Given the description of an element on the screen output the (x, y) to click on. 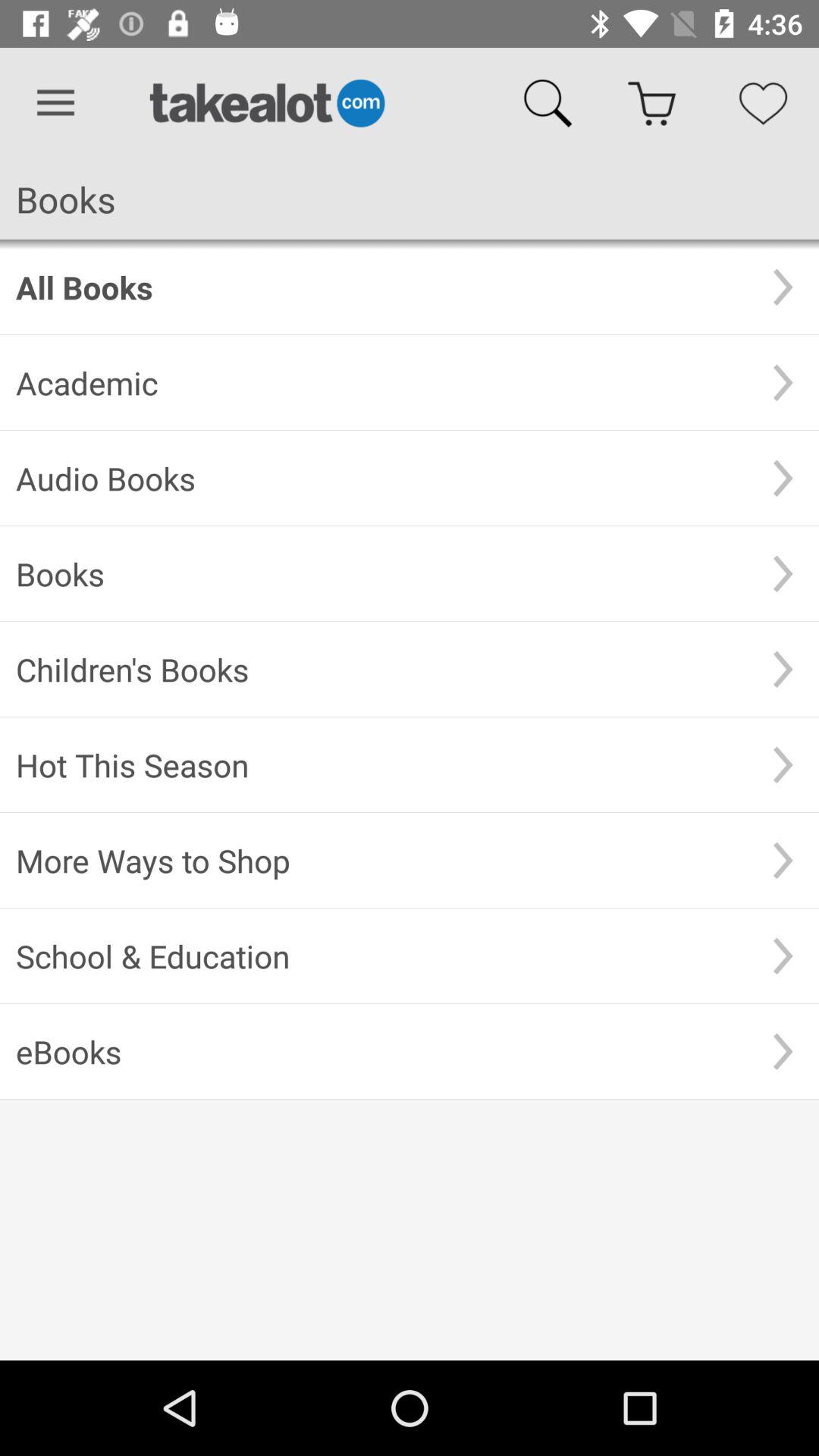
press the icon above academic item (381, 286)
